Given the description of an element on the screen output the (x, y) to click on. 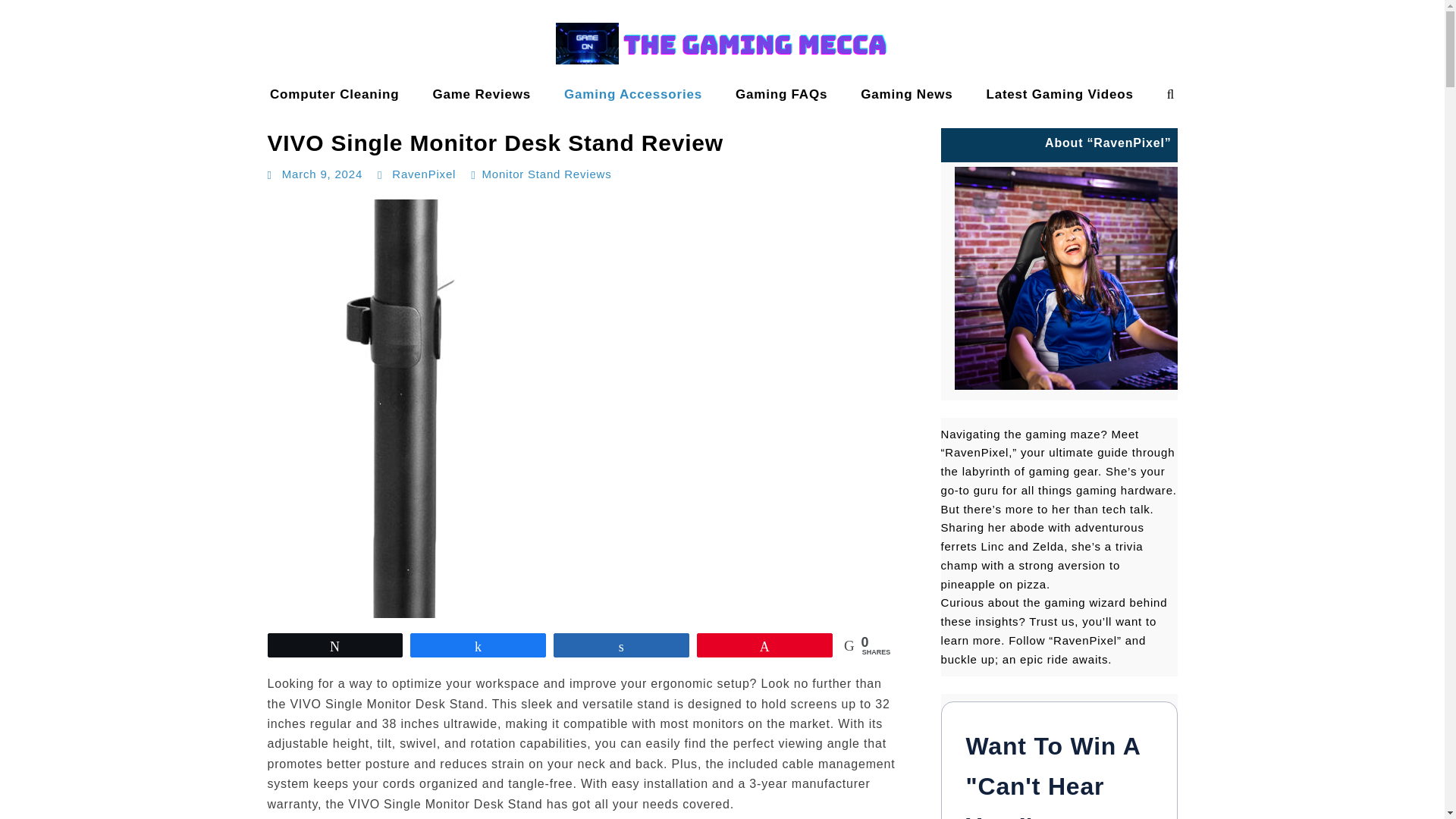
Gaming FAQs (781, 94)
RavenPixel (423, 173)
Game Reviews (480, 94)
Gaming Accessories (633, 94)
Latest Gaming Videos (1059, 94)
Computer Cleaning (333, 94)
Gaming News (906, 94)
The Gaming Mecca (74, 109)
Monitor Stand Reviews (546, 173)
